Given the description of an element on the screen output the (x, y) to click on. 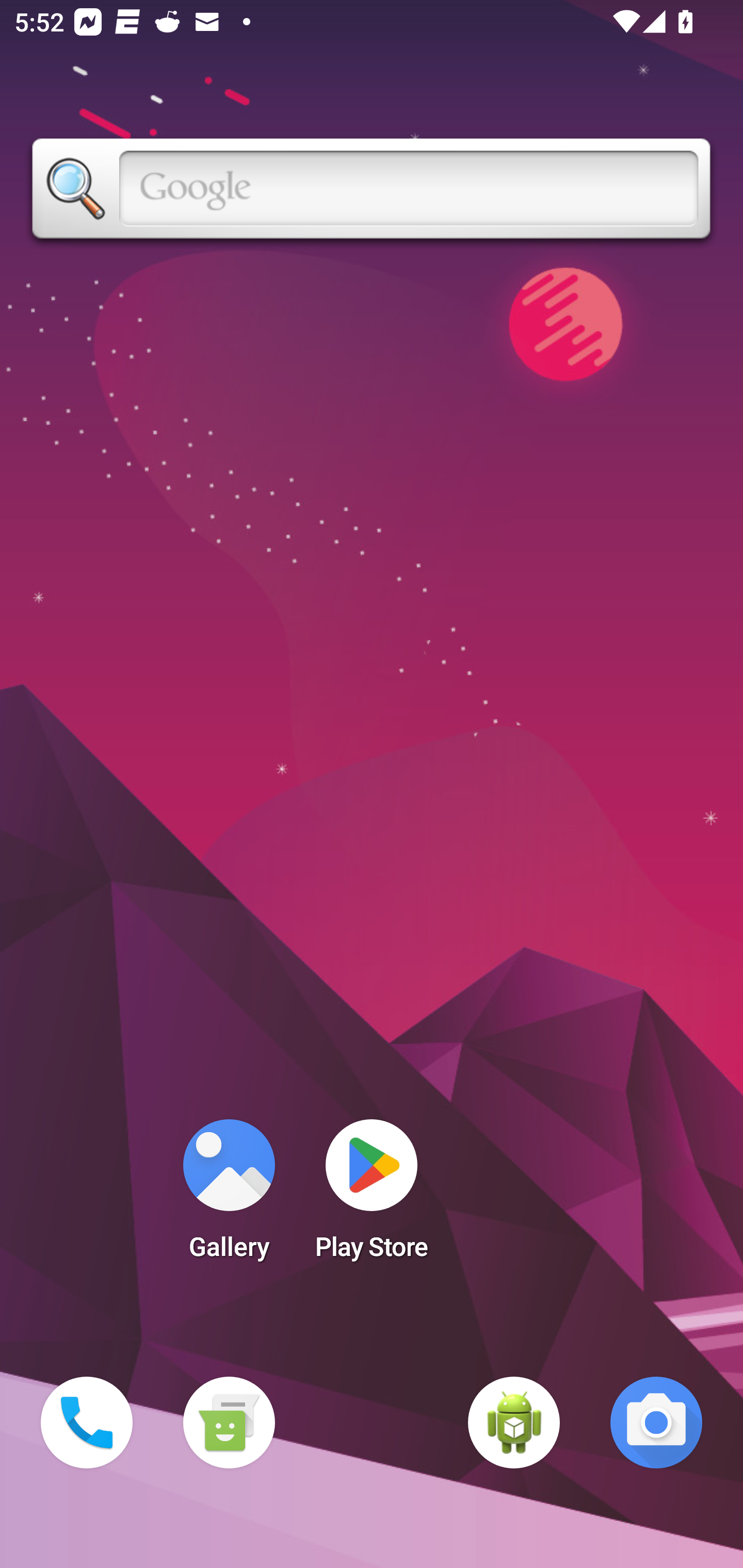
Gallery (228, 1195)
Play Store (371, 1195)
Phone (86, 1422)
Messaging (228, 1422)
WebView Browser Tester (513, 1422)
Camera (656, 1422)
